Given the description of an element on the screen output the (x, y) to click on. 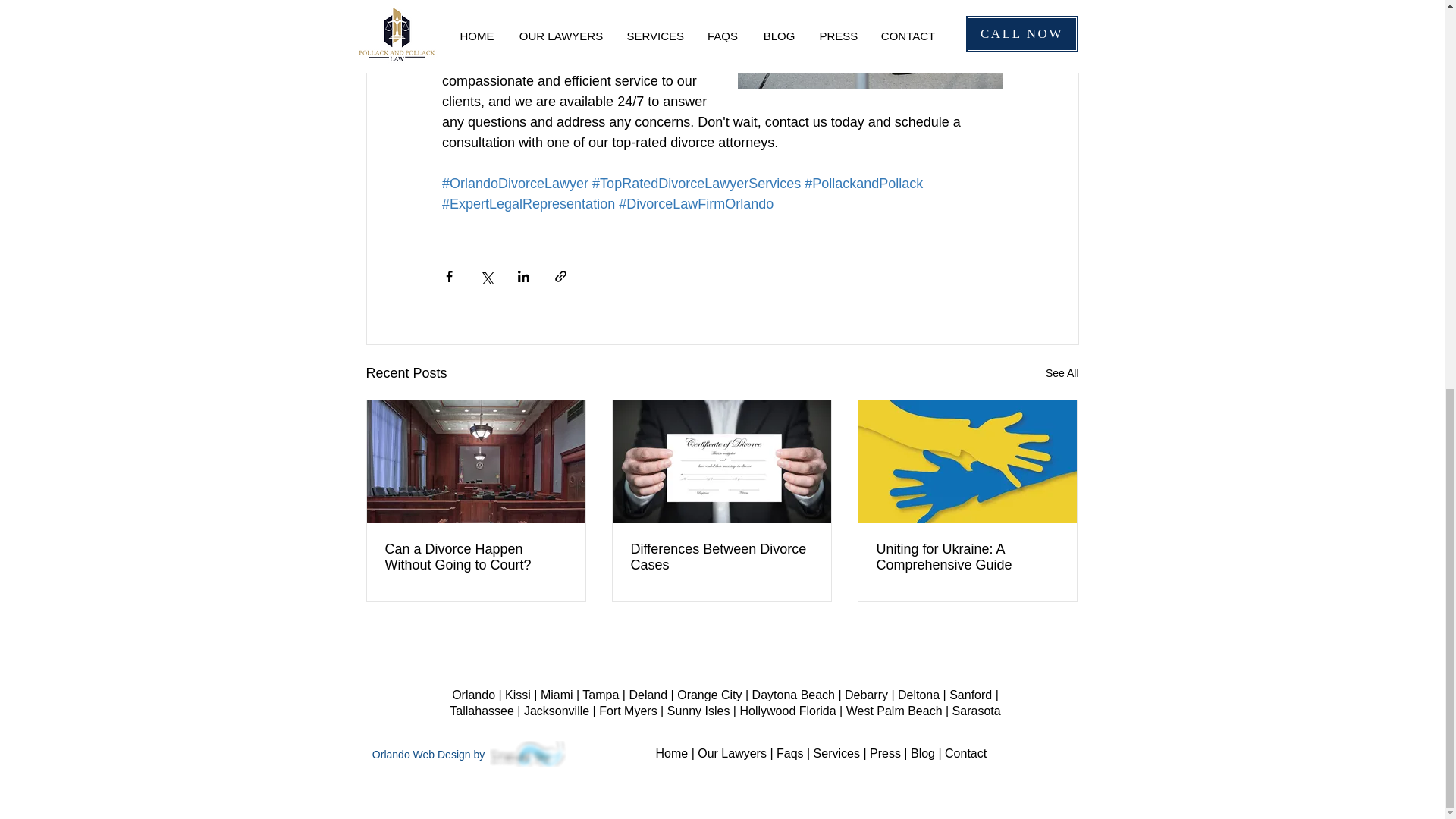
Can a Divorce Happen Without Going to Court? (476, 557)
Uniting for Ukraine: A Comprehensive Guide (967, 557)
See All (1061, 373)
Home (671, 753)
Faqs (789, 753)
Orlando Web Design by  (429, 754)
Our Lawyers (732, 753)
Differences Between Divorce Cases (721, 557)
